Given the description of an element on the screen output the (x, y) to click on. 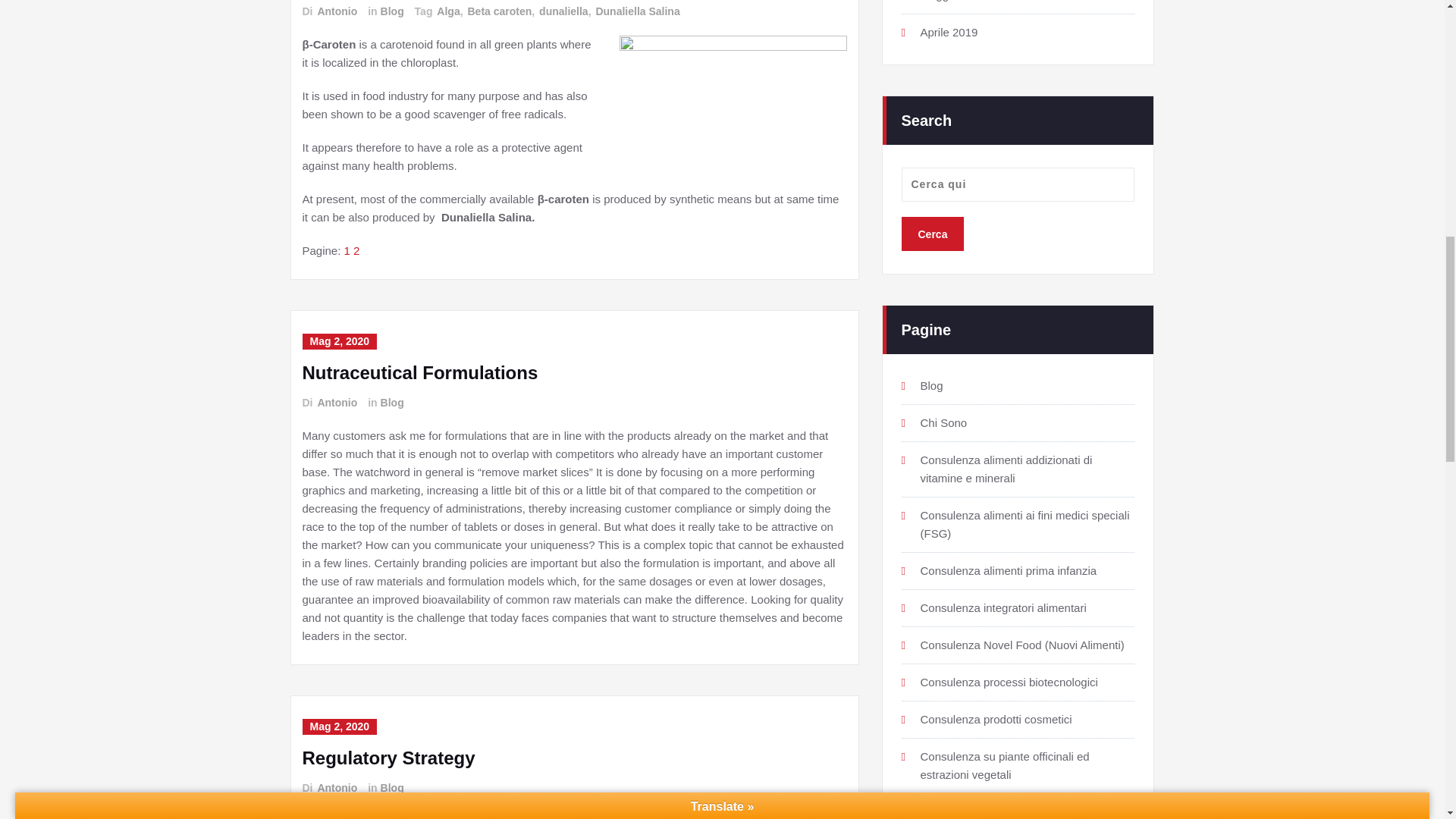
Alga (447, 11)
dunaliella (562, 11)
Antonio (335, 11)
Dunaliella Salina (636, 11)
Blog (391, 11)
Cerca (932, 233)
Beta caroten (498, 11)
Cerca (932, 233)
